Given the description of an element on the screen output the (x, y) to click on. 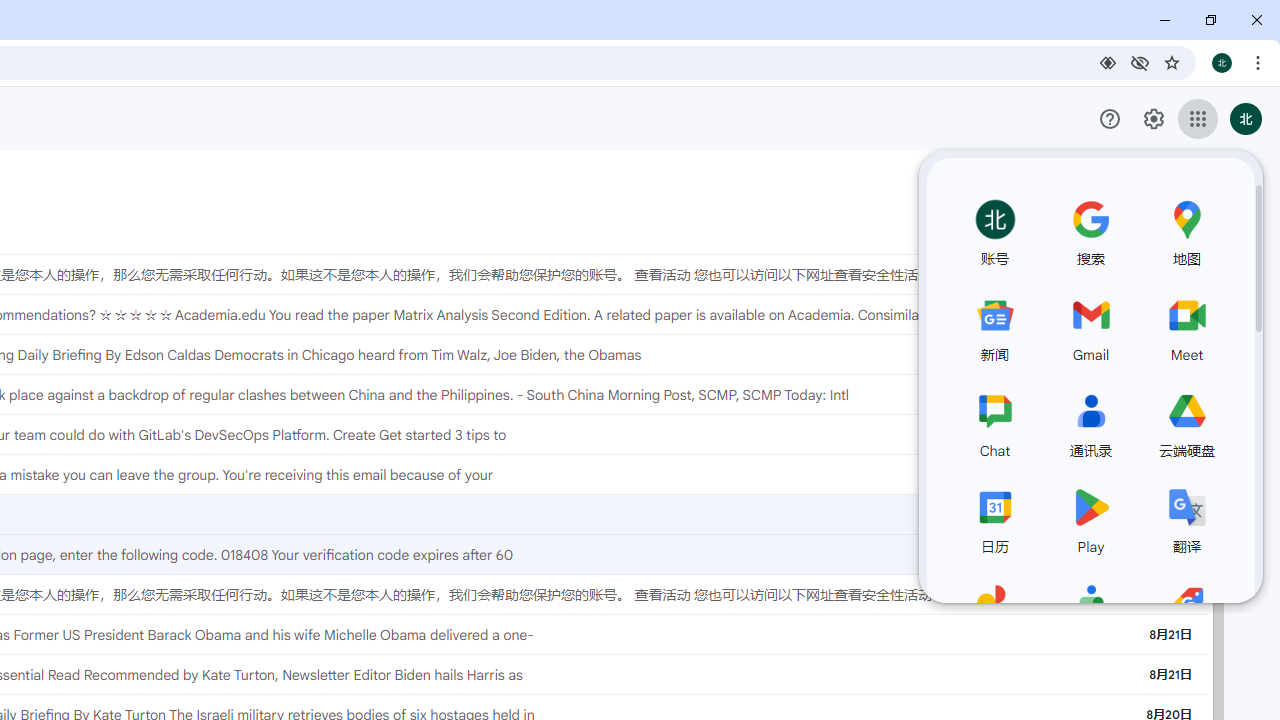
Restore (1210, 20)
Bookmark this tab (1171, 62)
